Given the description of an element on the screen output the (x, y) to click on. 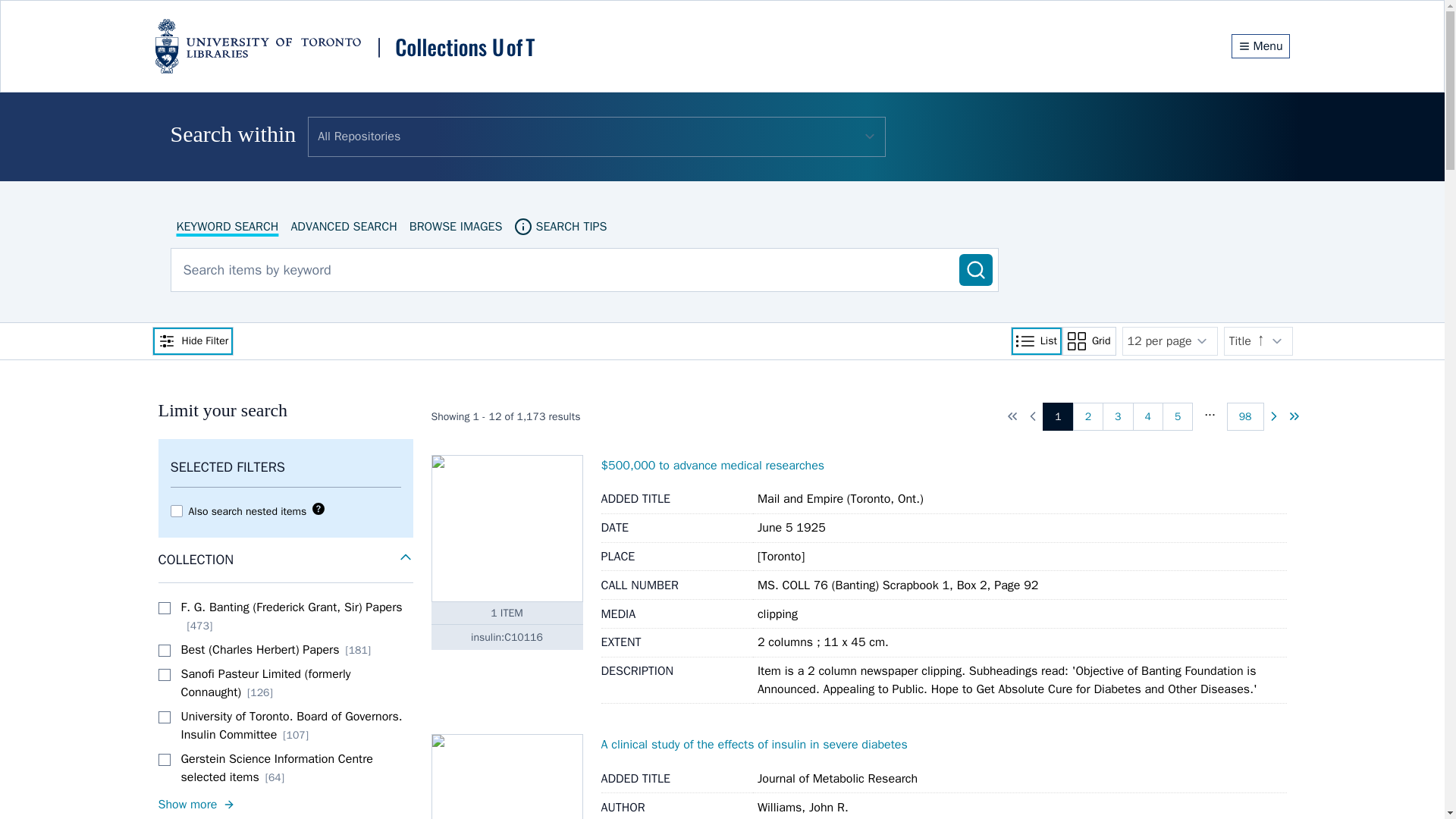
Digital Identifier: insulin:C10116 (506, 637)
Menu (1260, 46)
SEARCH TIPS (560, 226)
nested (176, 510)
KEYWORD SEARCH (227, 226)
ADVANCED SEARCH (342, 226)
Grid (1089, 340)
List (1036, 340)
on (163, 607)
on (163, 717)
Show more (284, 804)
on (163, 759)
on (163, 674)
BROWSE IMAGES (455, 226)
Hide Filter (191, 340)
